Given the description of an element on the screen output the (x, y) to click on. 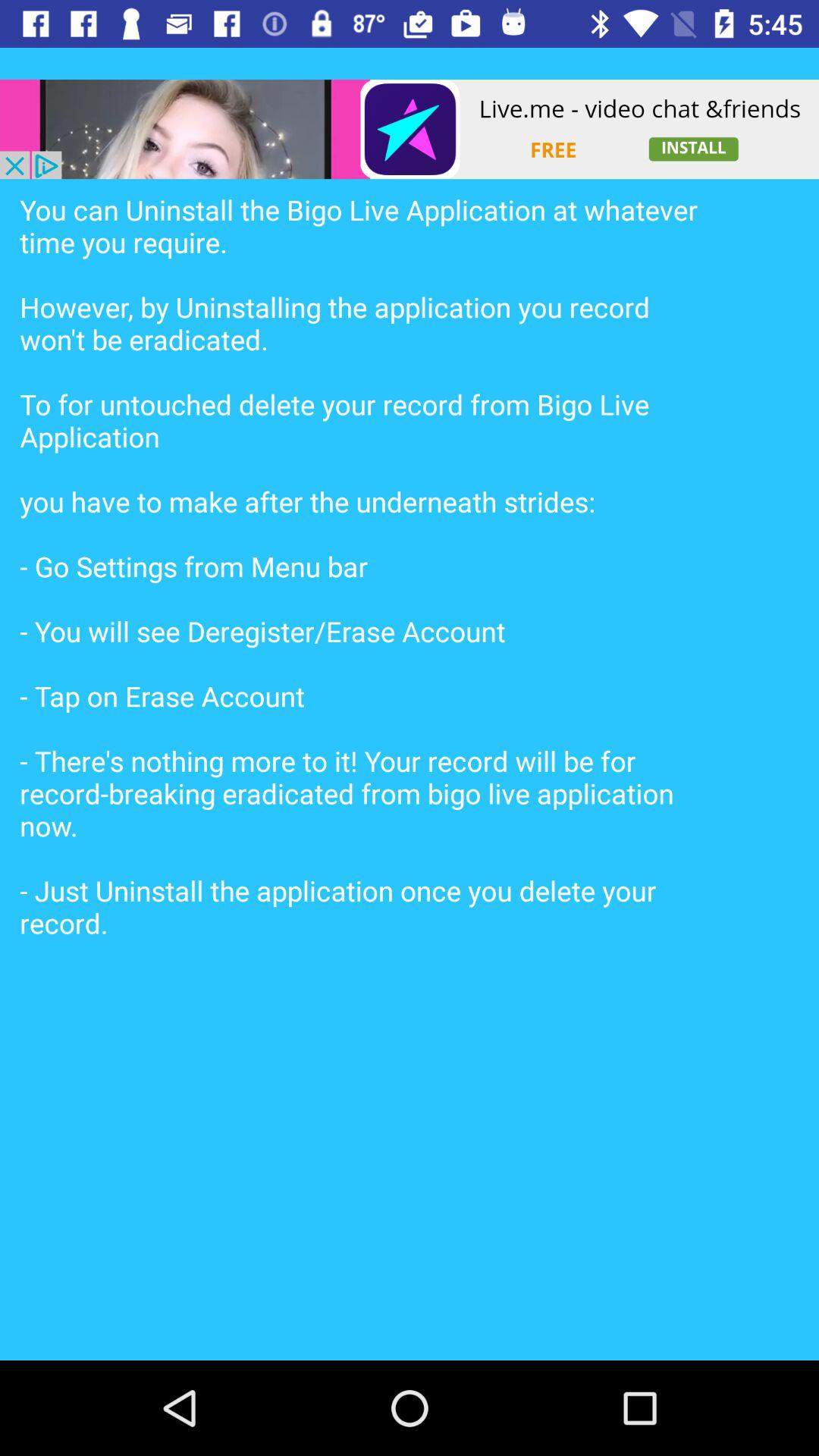
advertiser banner (409, 129)
